Given the description of an element on the screen output the (x, y) to click on. 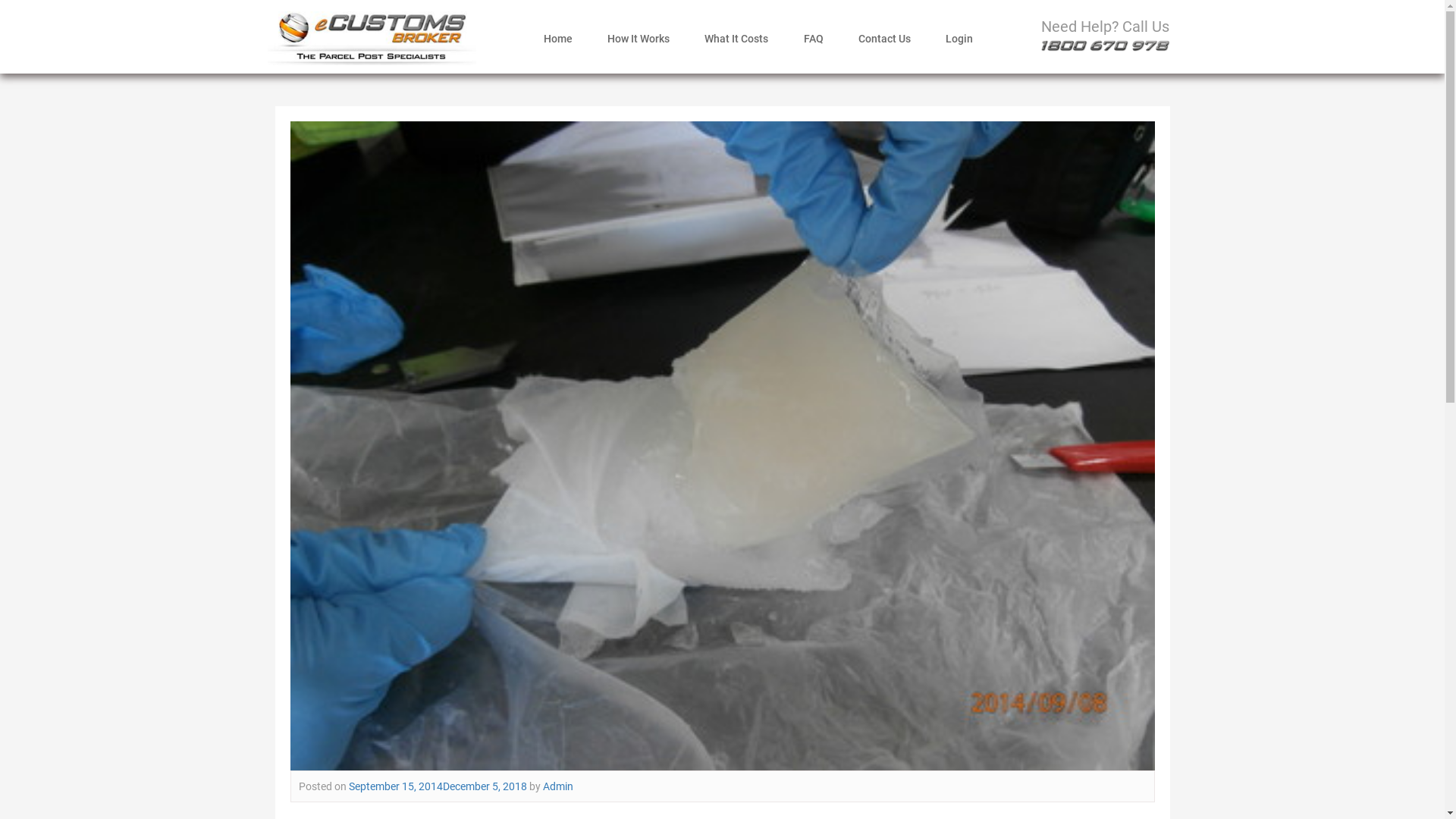
FAQ Element type: text (813, 38)
What It Costs Element type: text (736, 38)
September 15, 2014December 5, 2018 Element type: text (437, 786)
Contact Us Element type: text (884, 38)
How It Works Element type: text (638, 38)
Login Element type: text (959, 38)
Admin Element type: text (557, 786)
Home Element type: text (557, 38)
